Given the description of an element on the screen output the (x, y) to click on. 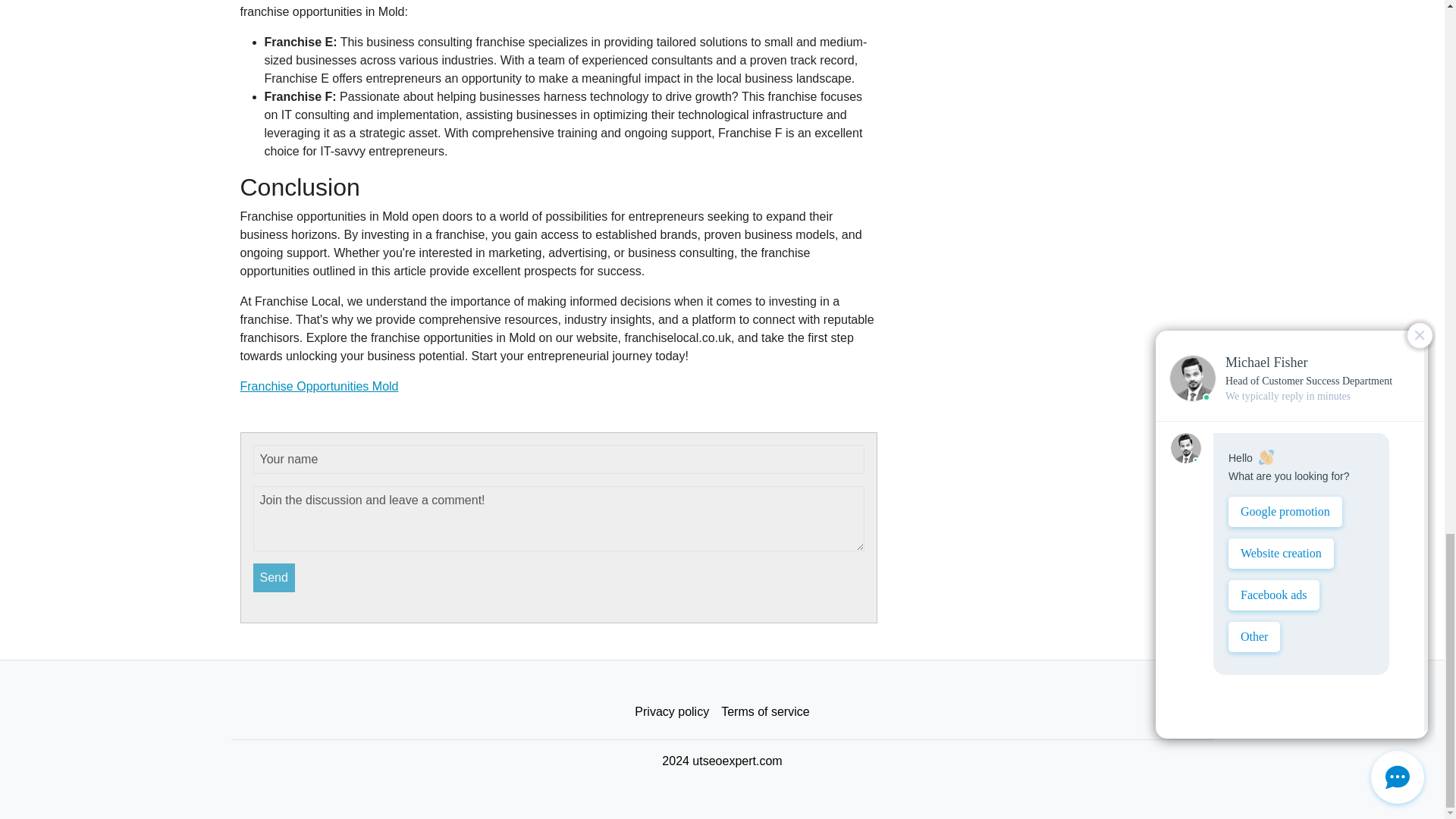
Terms of service (764, 711)
Send (274, 577)
Send (274, 577)
Franchise Opportunities Mold (318, 386)
Privacy policy (671, 711)
